Given the description of an element on the screen output the (x, y) to click on. 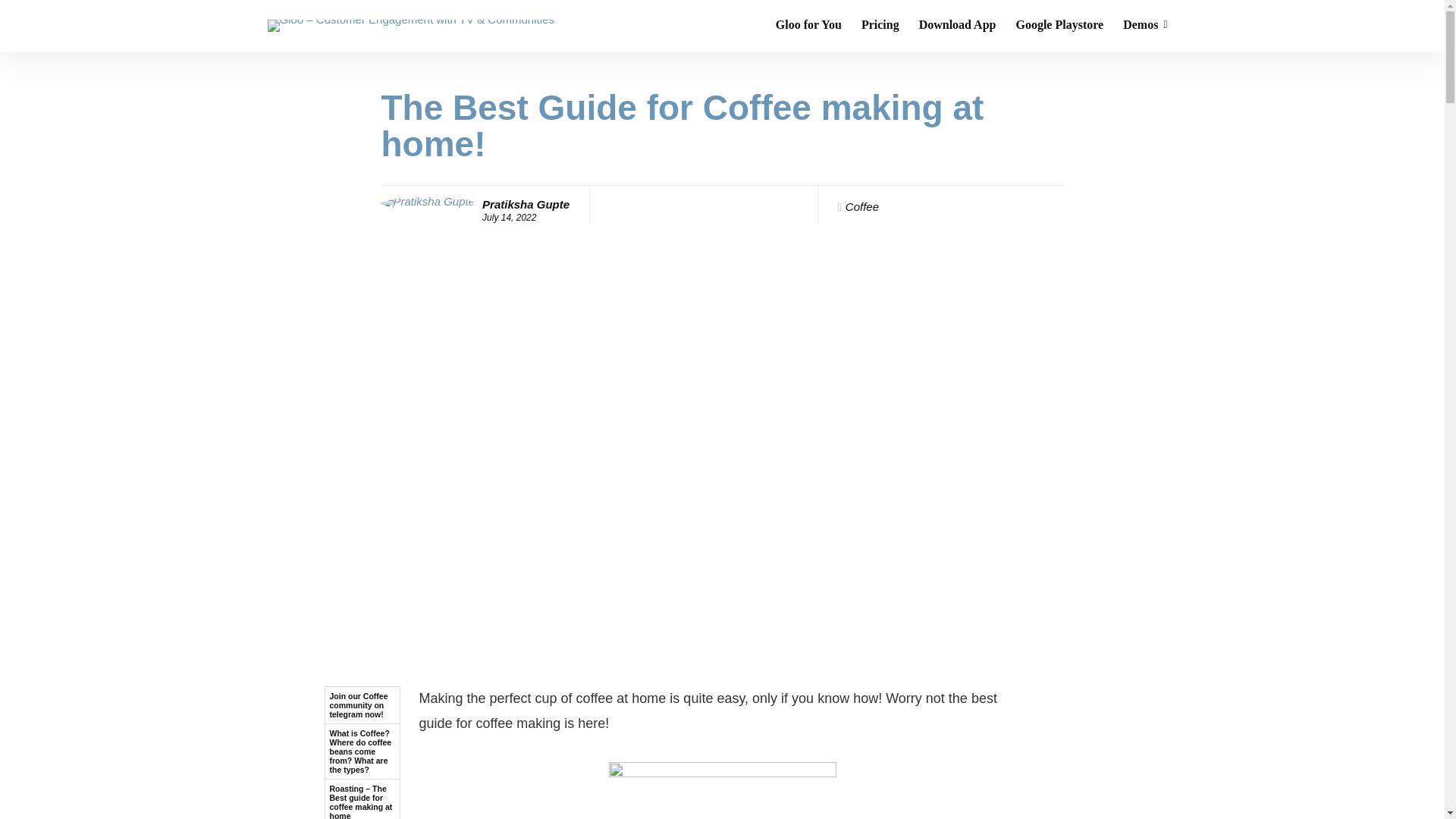
View all posts in Coffee (862, 205)
Pricing (879, 25)
Demos (1144, 25)
Join our Coffee community on telegram now! (361, 705)
Download App (957, 25)
Google Playstore (1059, 25)
Pratiksha Gupte (525, 204)
Coffee (862, 205)
Gloo for You (808, 25)
